Given the description of an element on the screen output the (x, y) to click on. 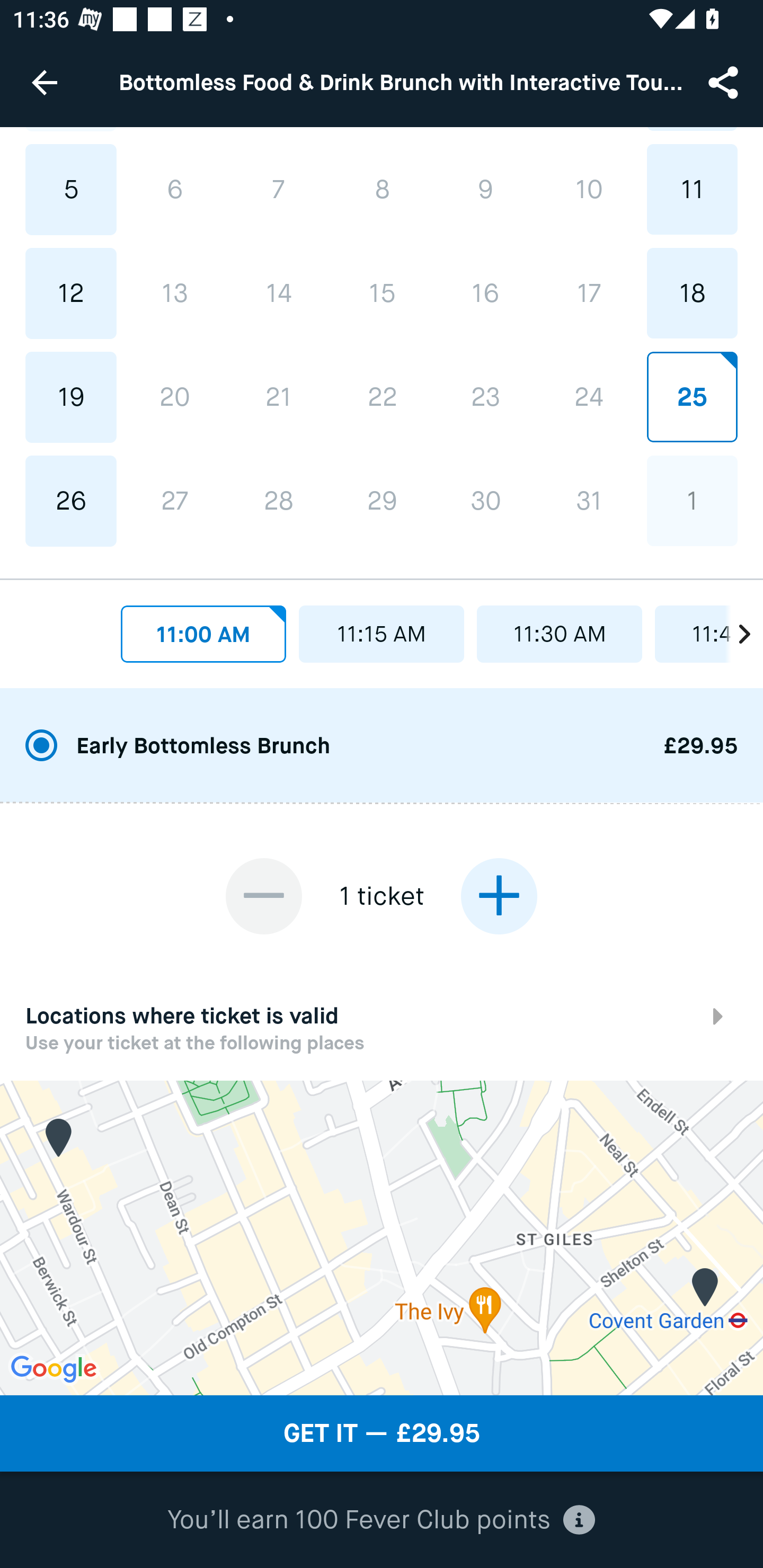
Navigate up (44, 82)
Share (724, 81)
5 (70, 189)
6 (174, 189)
7 (278, 189)
8 (382, 189)
9 (485, 189)
10 (588, 189)
11 (692, 189)
12 (70, 292)
13 (174, 292)
14 (278, 292)
15 (382, 292)
16 (485, 292)
17 (588, 292)
18 (692, 292)
19 (70, 396)
20 (174, 396)
21 (278, 396)
22 (382, 396)
23 (485, 396)
24 (588, 396)
25 (692, 396)
26 (70, 501)
27 (174, 501)
28 (278, 501)
29 (382, 500)
30 (485, 500)
31 (588, 500)
1 (692, 500)
chevron (734, 629)
11:00 AM (203, 634)
11:15 AM (381, 634)
11:30 AM (559, 634)
Early Bottomless Brunch £29.95 (381, 746)
decrease (263, 895)
increase (498, 895)
Google Map Map Marker Map Marker (381, 1237)
GET IT — £29.95 (381, 1433)
You’ll earn 100 Fever Club points (381, 1519)
